Given the description of an element on the screen output the (x, y) to click on. 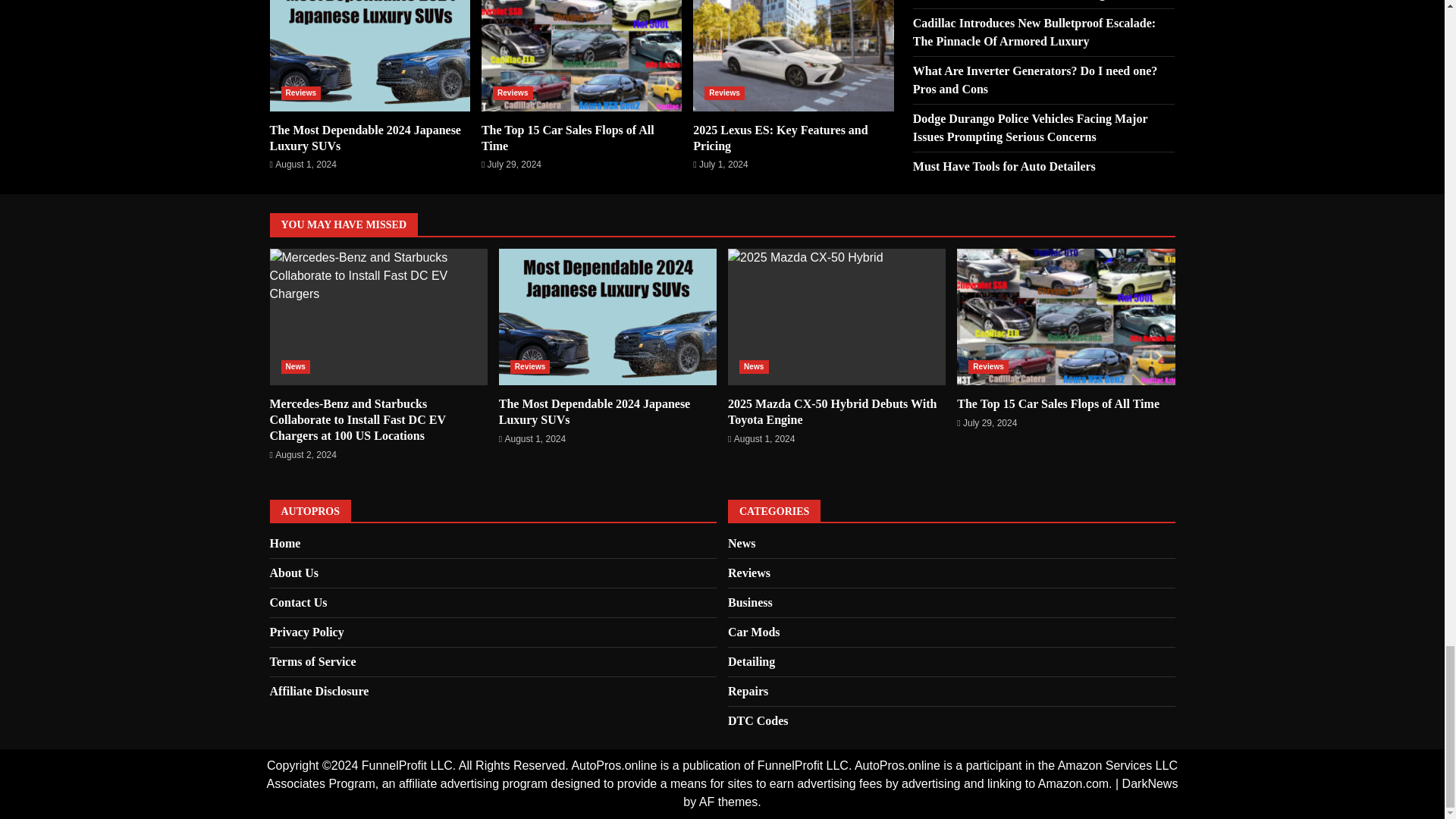
The Most Dependable 2024 Japanese Luxury SUVs (369, 55)
Reviews (300, 92)
The Most Dependable 2024 Japanese Luxury SUVs (365, 137)
